Given the description of an element on the screen output the (x, y) to click on. 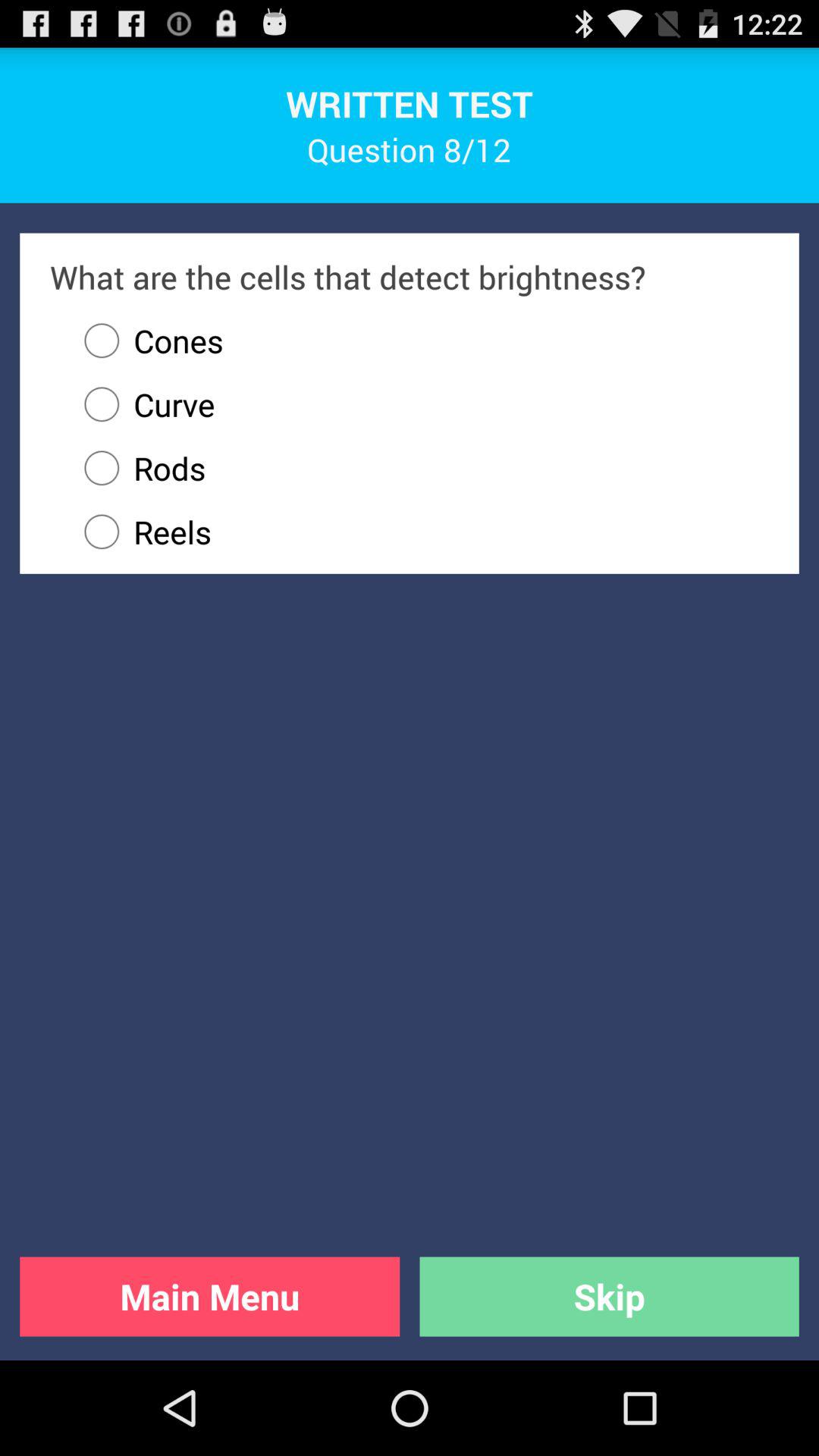
turn on reels at the center (418, 531)
